Given the description of an element on the screen output the (x, y) to click on. 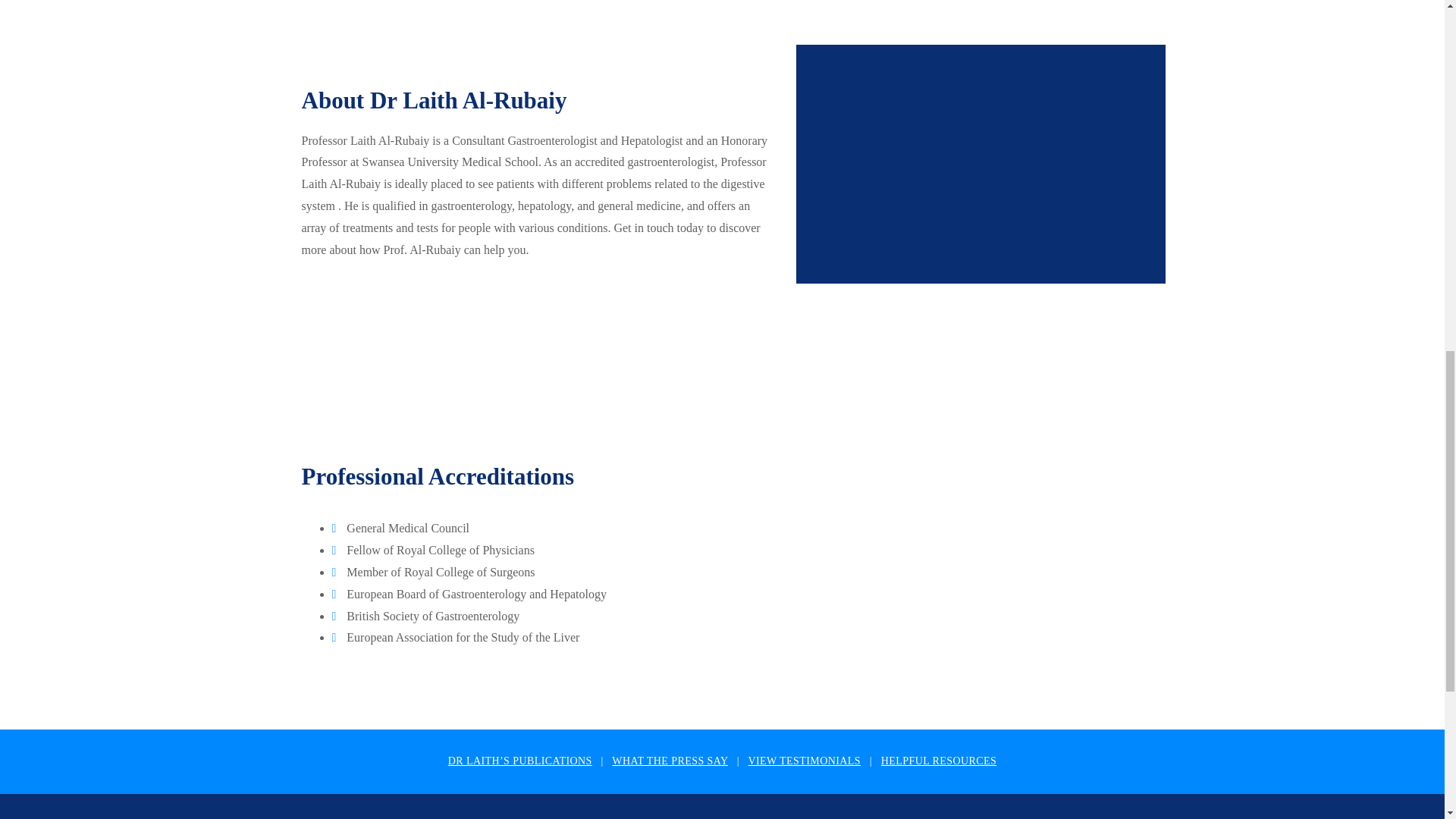
VIEW TESTIMONIALS (804, 760)
WHAT THE PRESS SAY (669, 760)
HELPFUL RESOURCES (937, 760)
